Given the description of an element on the screen output the (x, y) to click on. 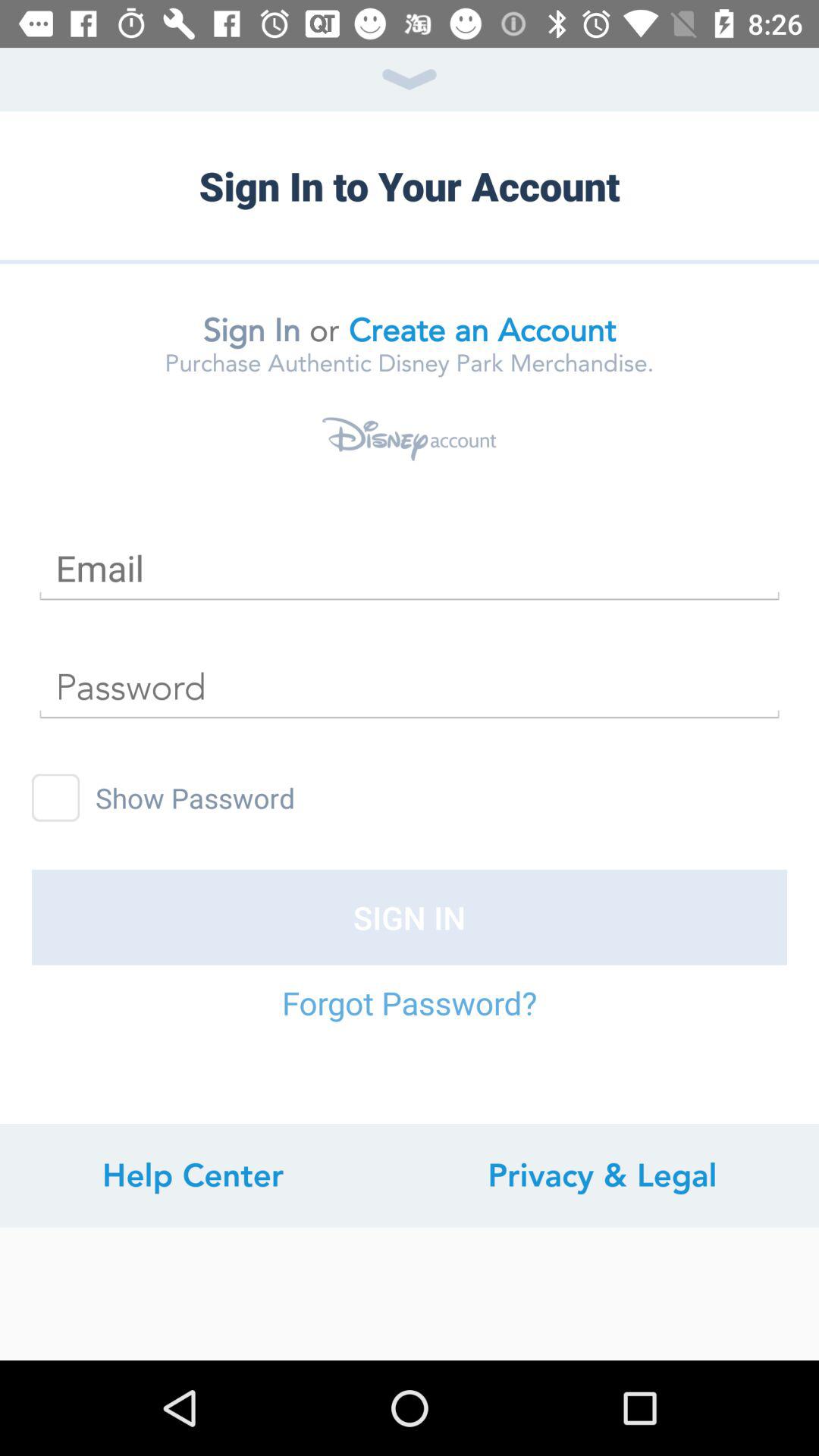
scroll until the forgot password? (409, 1018)
